Given the description of an element on the screen output the (x, y) to click on. 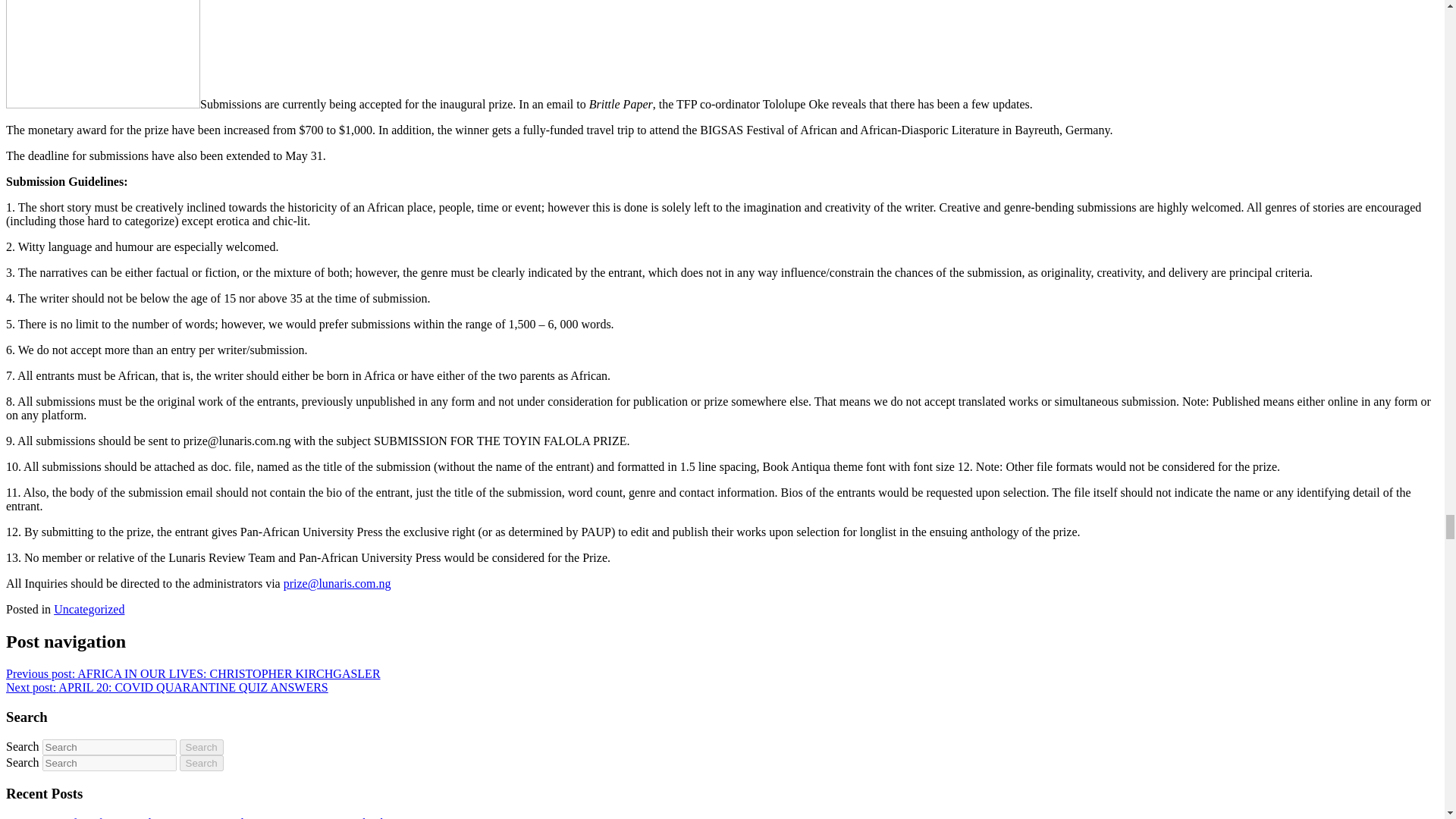
Search (201, 763)
Search (201, 747)
Search (201, 747)
Search (201, 763)
